Given the description of an element on the screen output the (x, y) to click on. 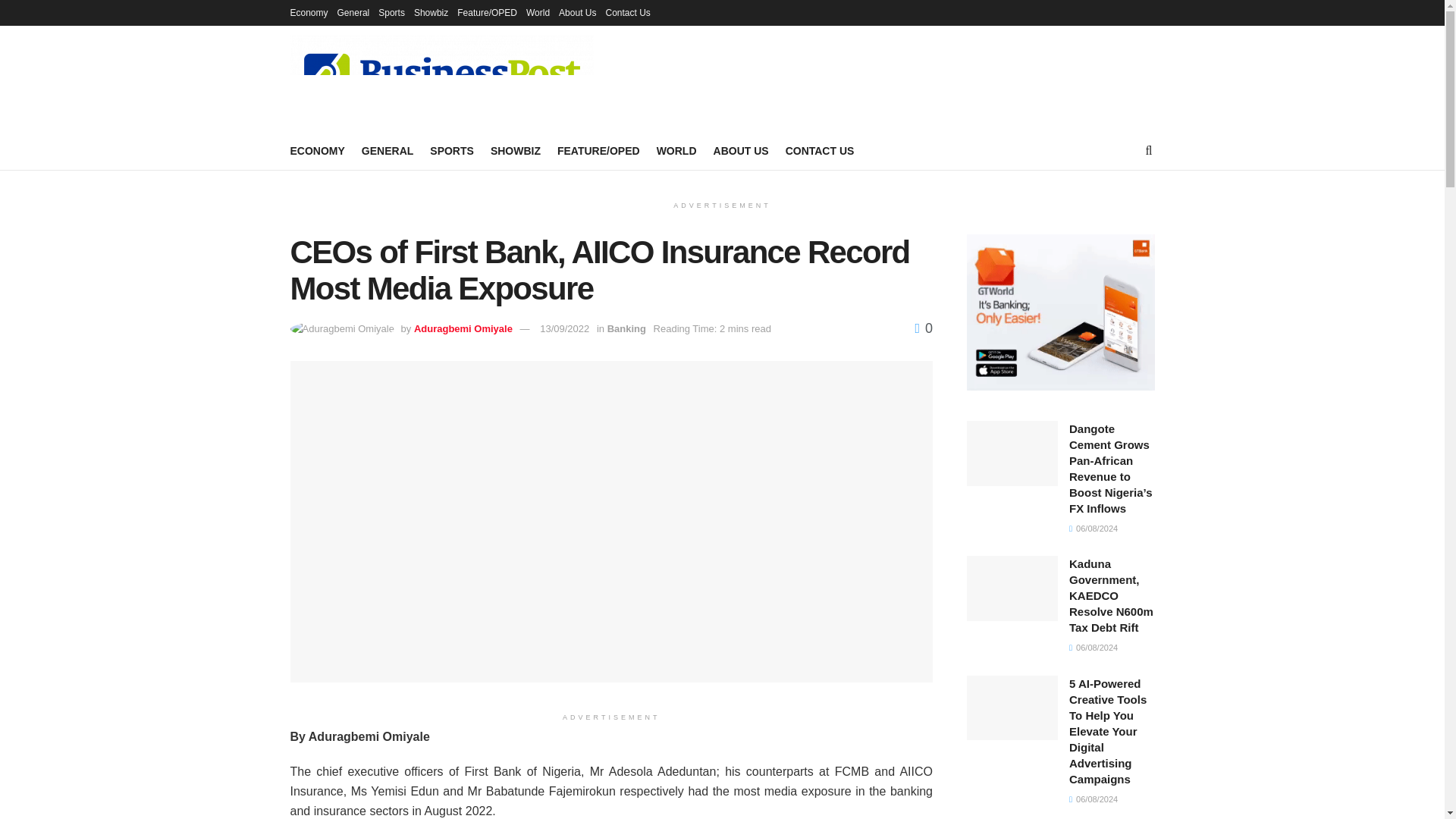
General (353, 12)
0 (923, 328)
Banking (626, 328)
Showbiz (430, 12)
Sports (391, 12)
WORLD (676, 150)
Contact Us (627, 12)
ABOUT US (740, 150)
ECONOMY (316, 150)
SHOWBIZ (515, 150)
GENERAL (387, 150)
CONTACT US (820, 150)
About Us (577, 12)
SPORTS (451, 150)
Economy (308, 12)
